Given the description of an element on the screen output the (x, y) to click on. 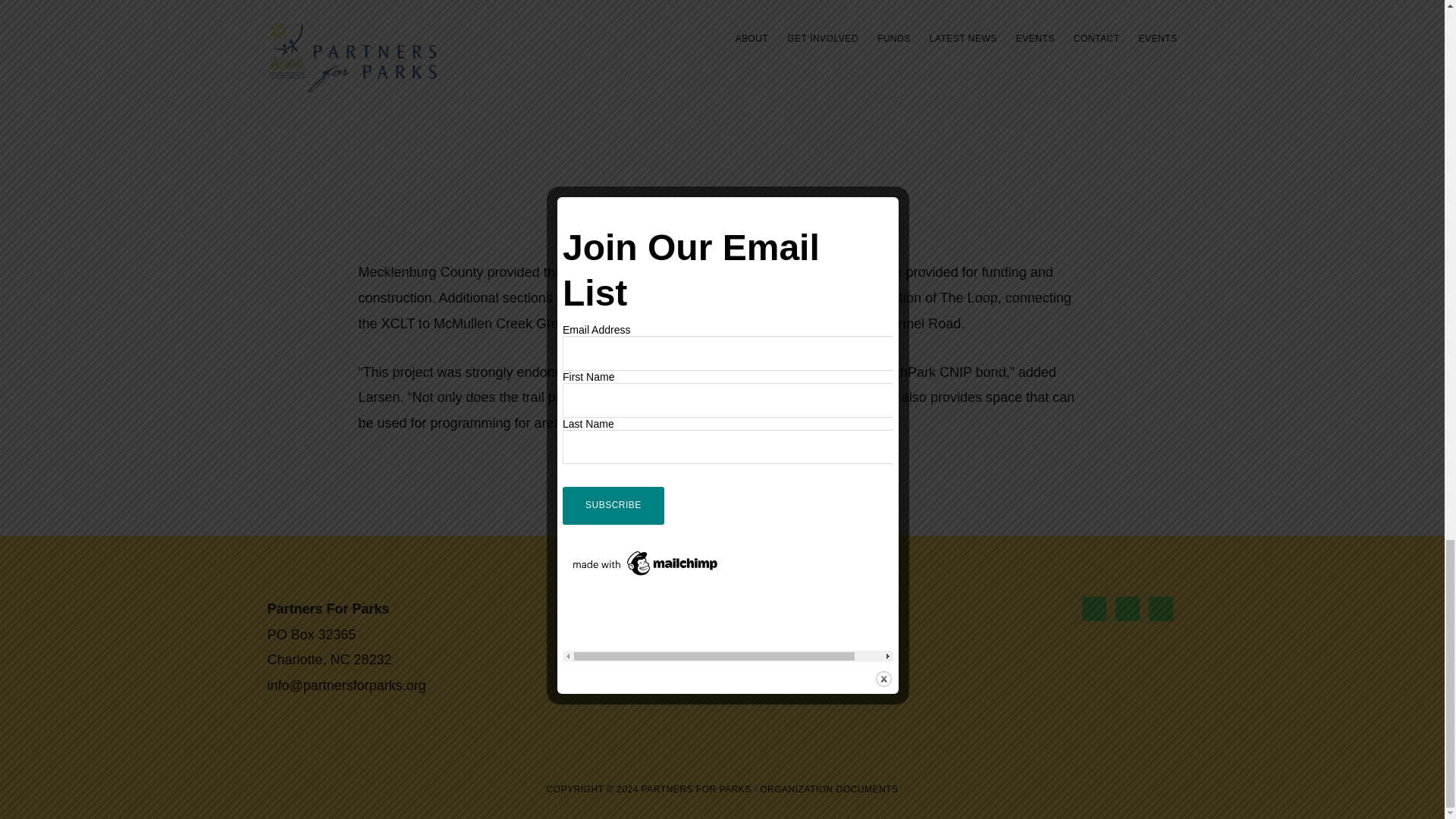
ORGANIZATION DOCUMENTS (829, 788)
